Given the description of an element on the screen output the (x, y) to click on. 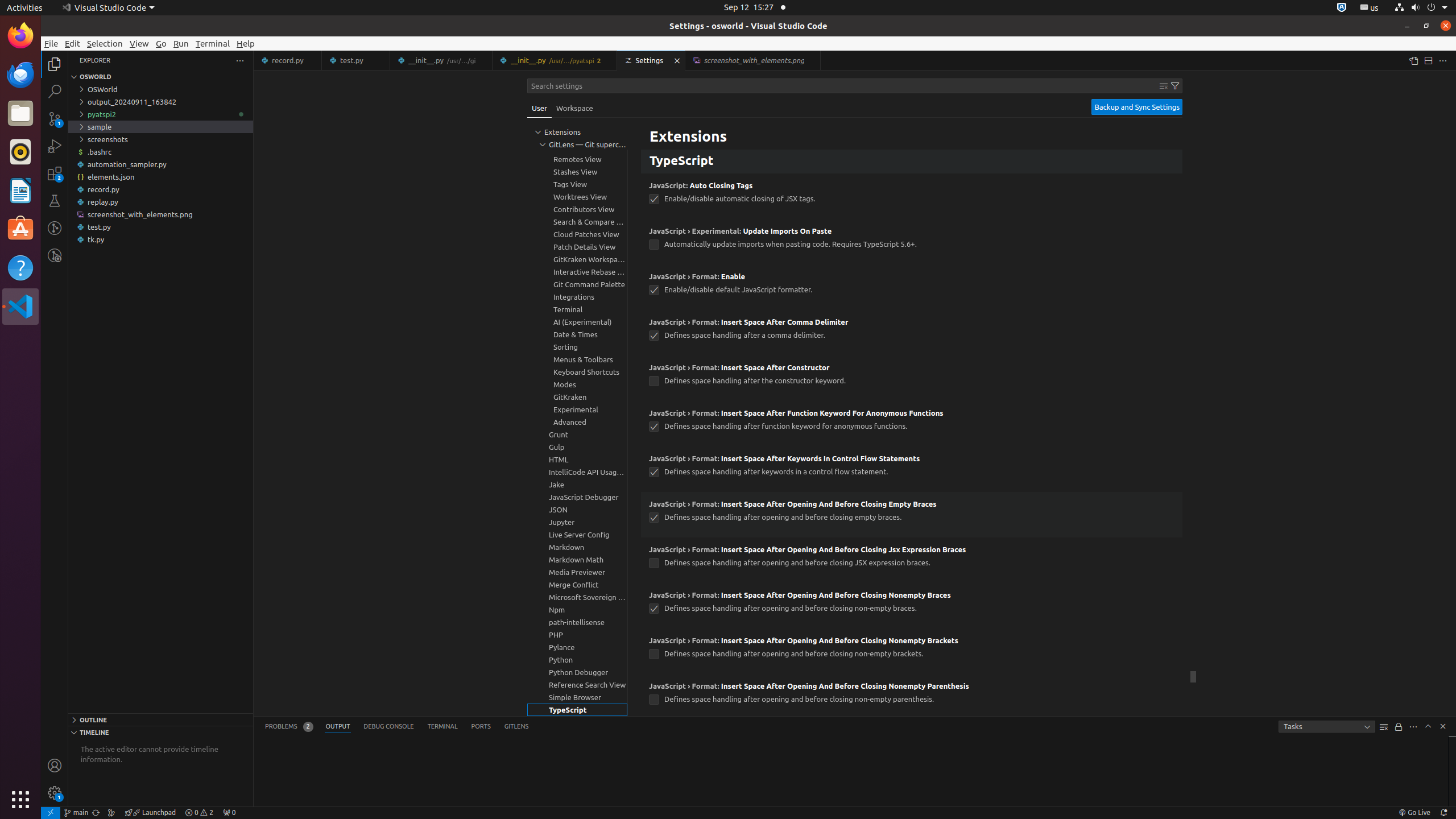
Interactive Rebase Editor, group Element type: tree-item (577, 271)
JavaScript › Format Insert Space After Opening And Before Closing Empty Braces. Defines space handling after opening and before closing empty braces.  Element type: tree-item (911, 514)
Line History View, group Element type: tree-item (577, 133)
Markdown Math, group Element type: tree-item (577, 559)
File Element type: push-button (50, 43)
